Given the description of an element on the screen output the (x, y) to click on. 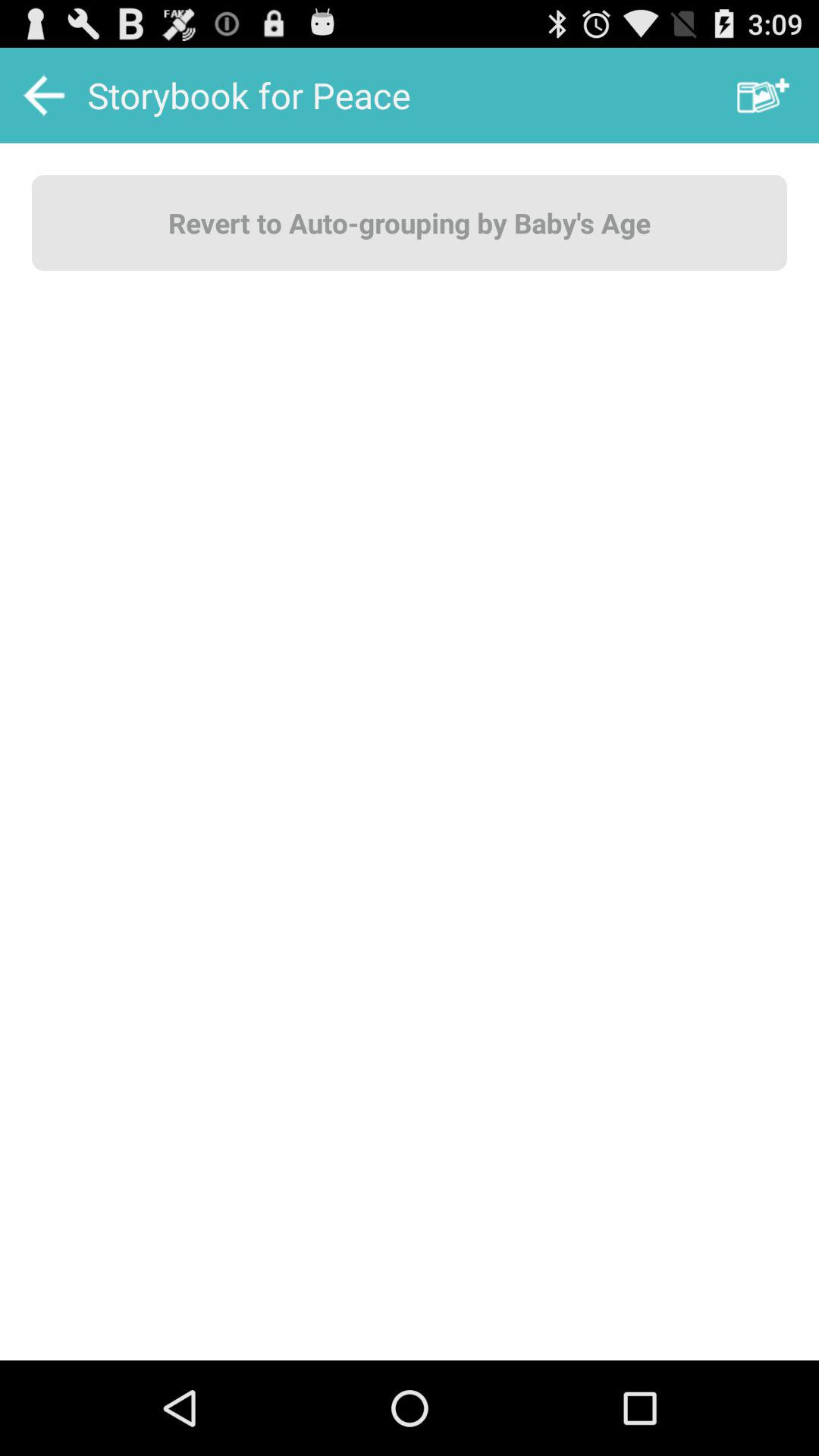
turn off the icon to the right of the storybook for peace item (763, 95)
